Given the description of an element on the screen output the (x, y) to click on. 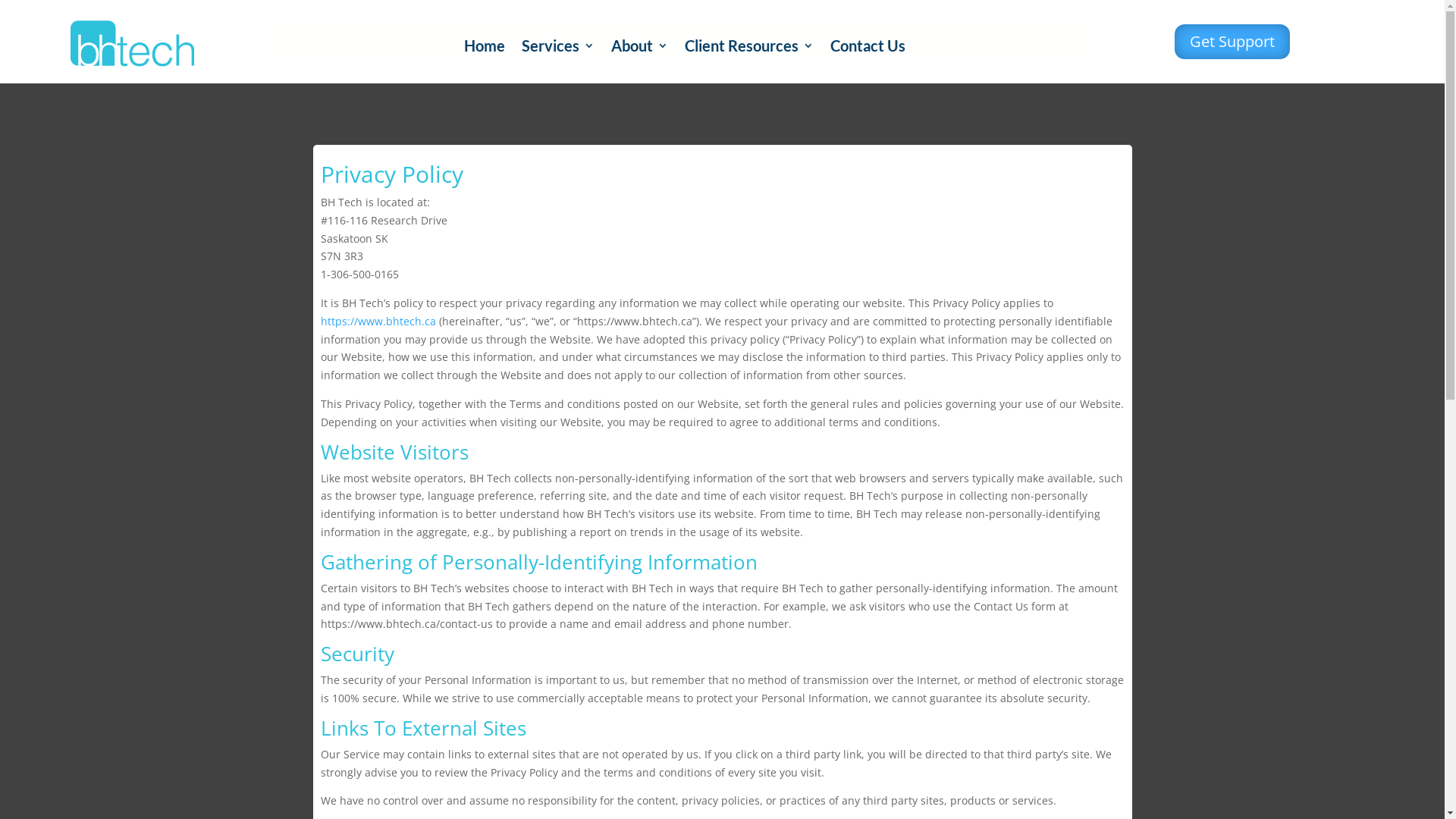
Services Element type: text (557, 48)
About Element type: text (639, 48)
Home Element type: text (484, 48)
Logo Element type: hover (131, 43)
Contact Us Element type: text (866, 48)
https://www.bhtech.ca Element type: text (377, 320)
Client Resources Element type: text (748, 48)
Get Support Element type: text (1231, 41)
